Given the description of an element on the screen output the (x, y) to click on. 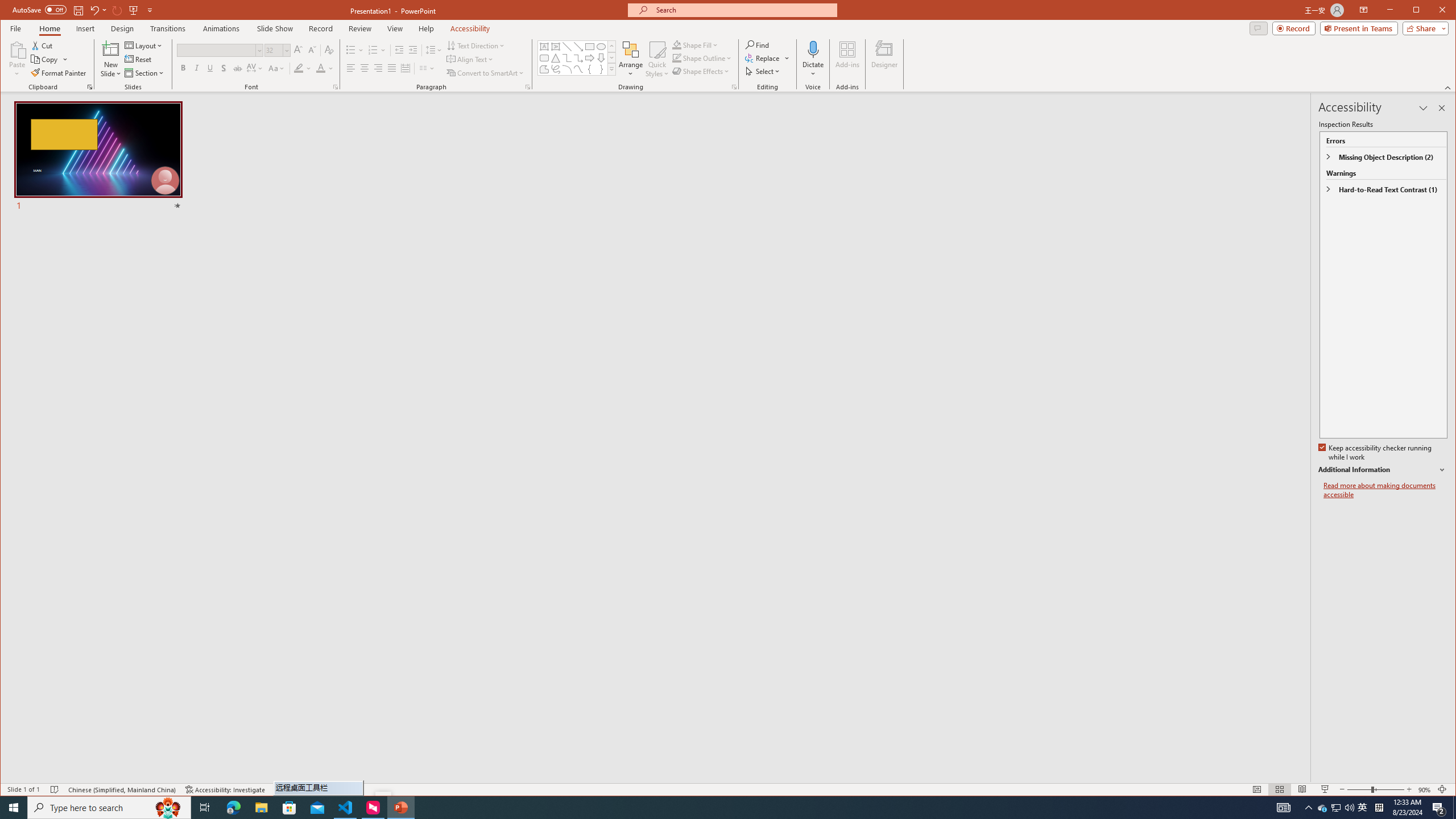
Arrow: Down (601, 57)
Office Clipboard... (89, 86)
Underline (209, 68)
Shape Effects (702, 70)
